Given the description of an element on the screen output the (x, y) to click on. 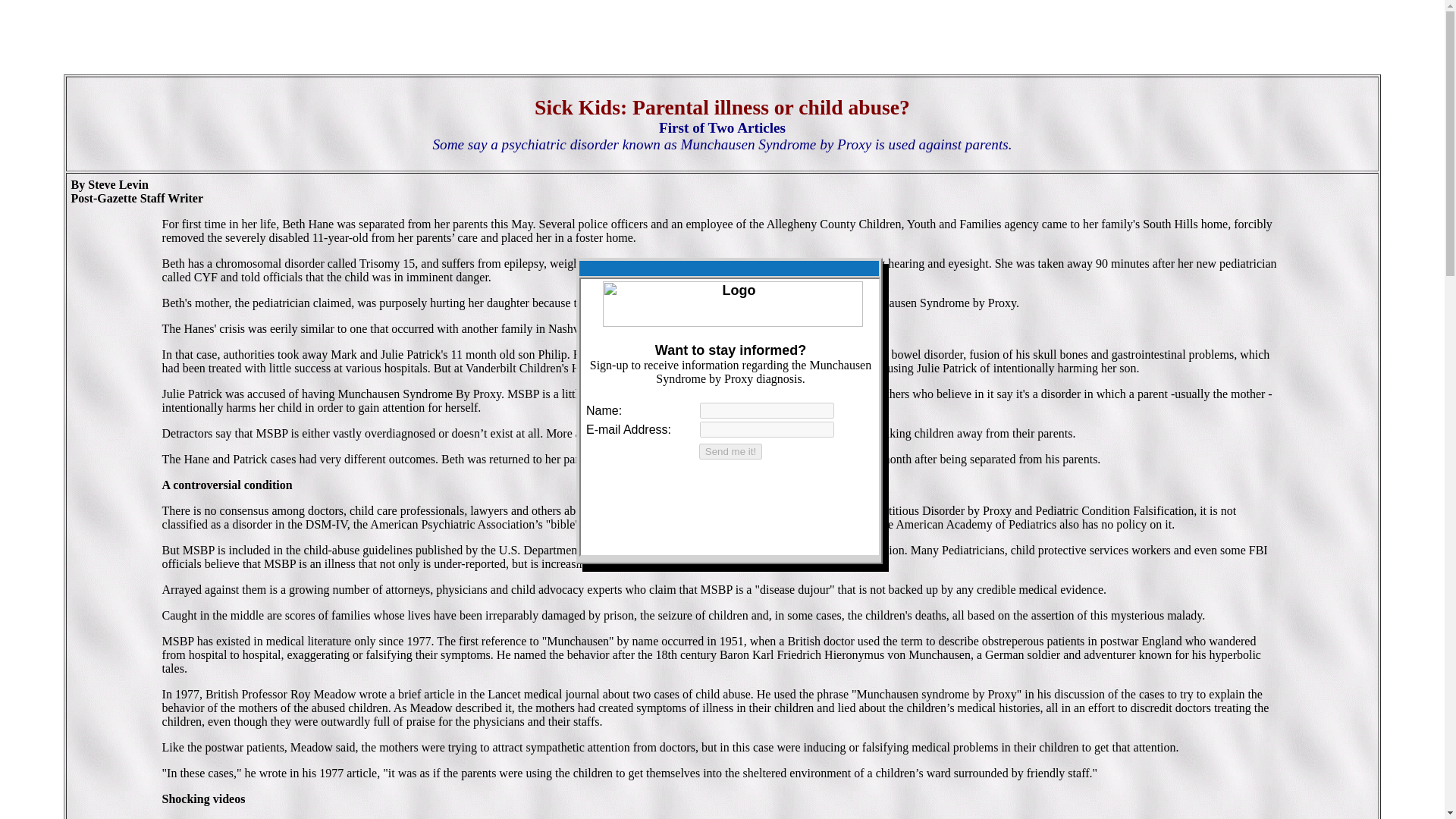
Send me it! (729, 451)
Logo (732, 303)
Send me it! (729, 451)
Advertisement (721, 39)
